Given the description of an element on the screen output the (x, y) to click on. 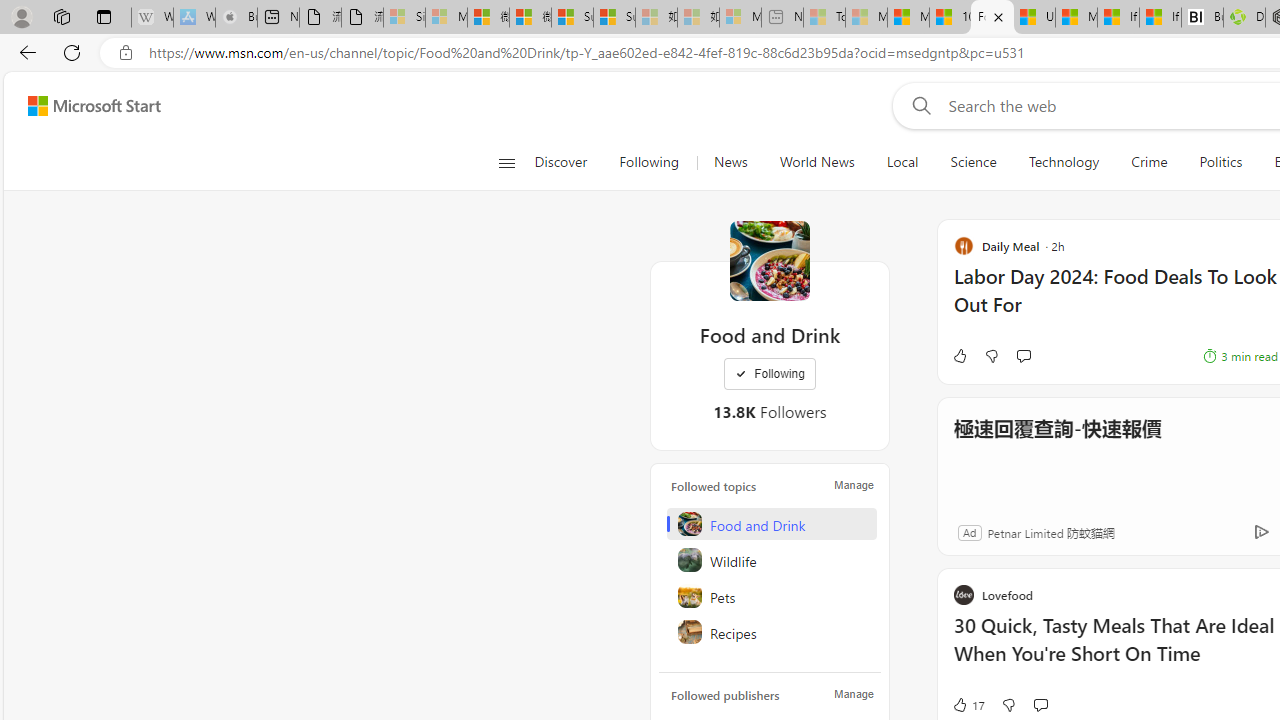
Recipes (771, 632)
Food and Drink (771, 524)
Local (902, 162)
Wikipedia - Sleeping (151, 17)
Skip to footer (82, 105)
Crime (1149, 162)
